Given the description of an element on the screen output the (x, y) to click on. 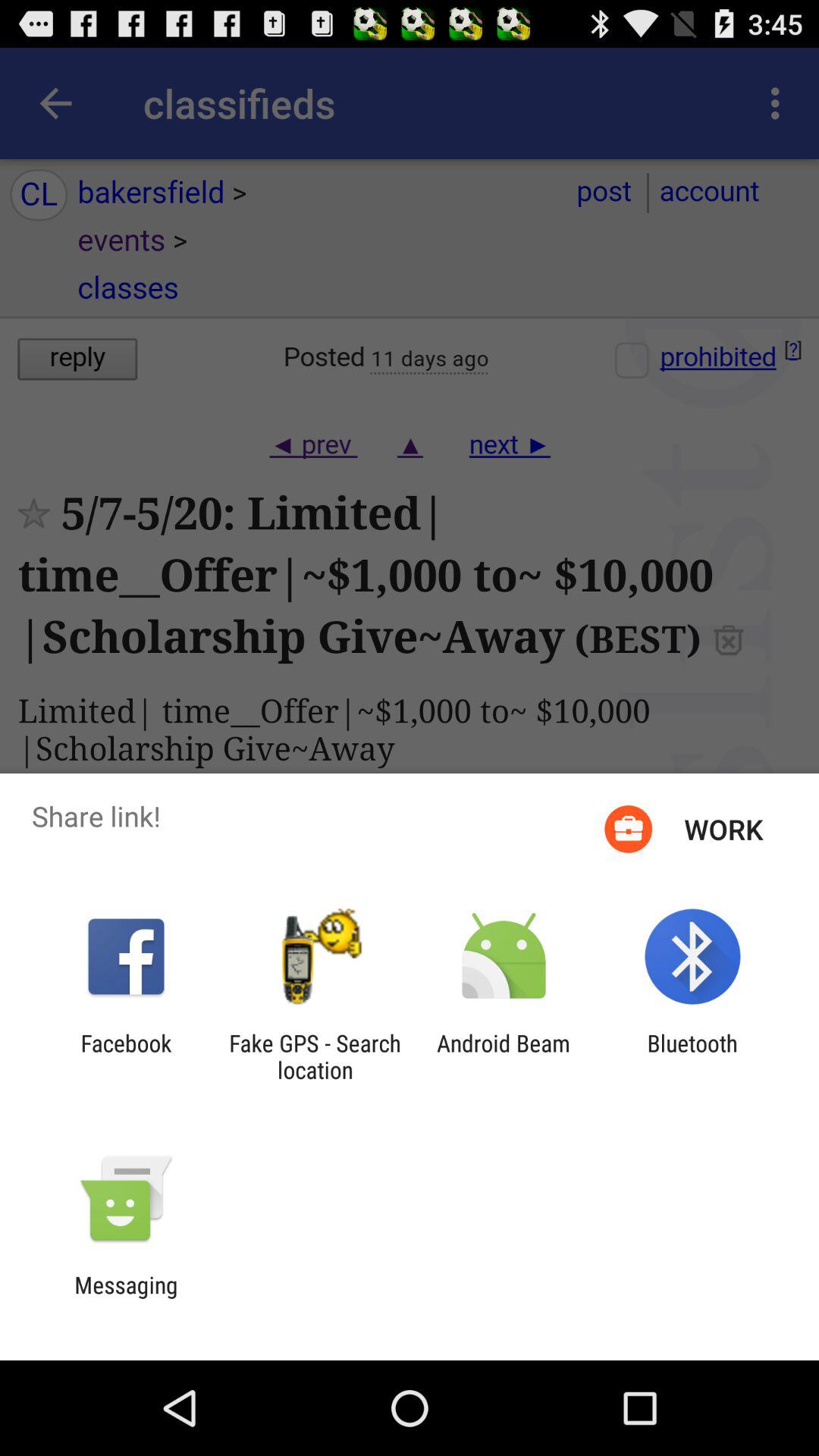
select the icon next to facebook item (314, 1056)
